Given the description of an element on the screen output the (x, y) to click on. 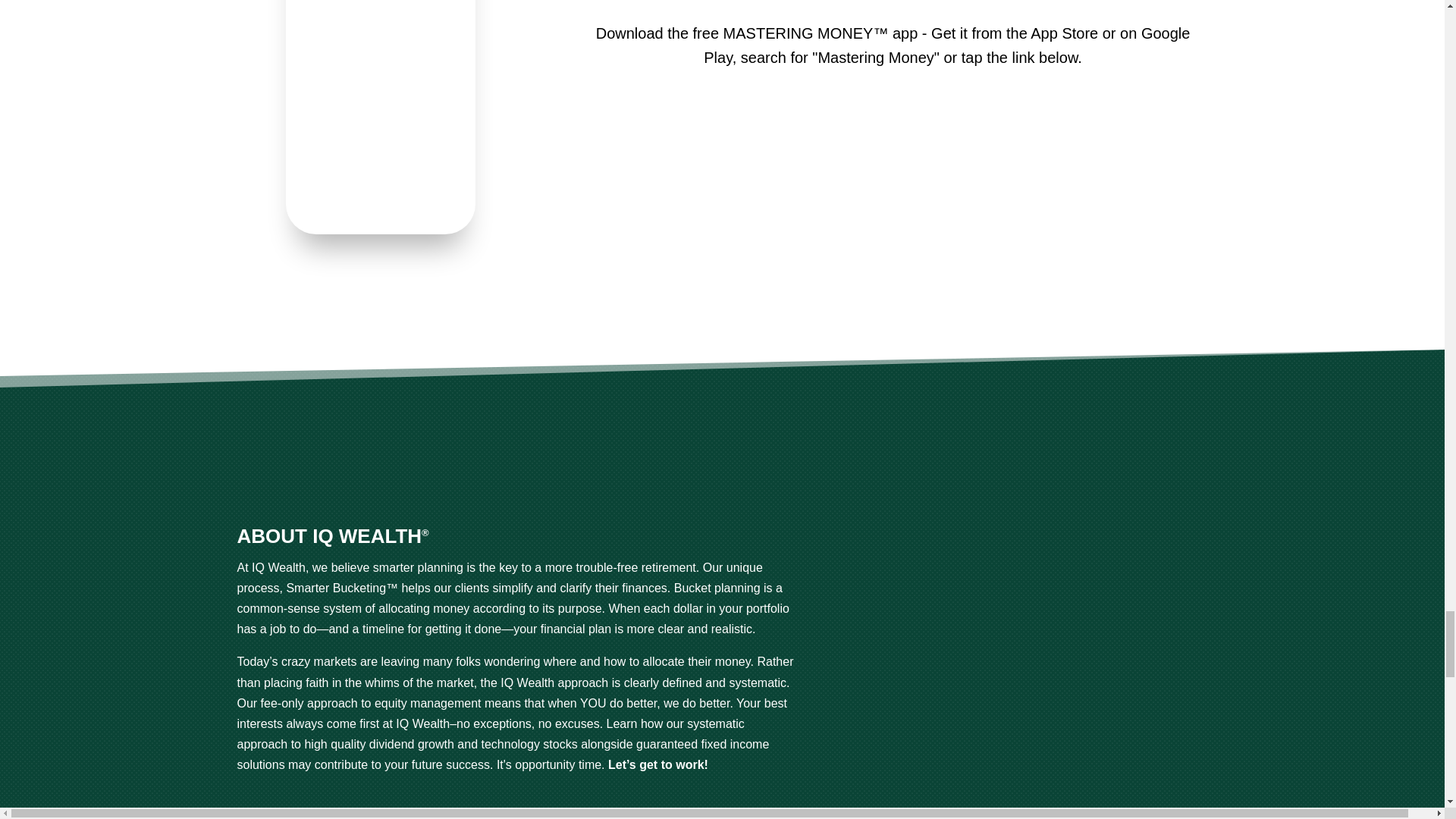
2024 Mastering Money - iPhone (380, 229)
app-store (977, 141)
